Given the description of an element on the screen output the (x, y) to click on. 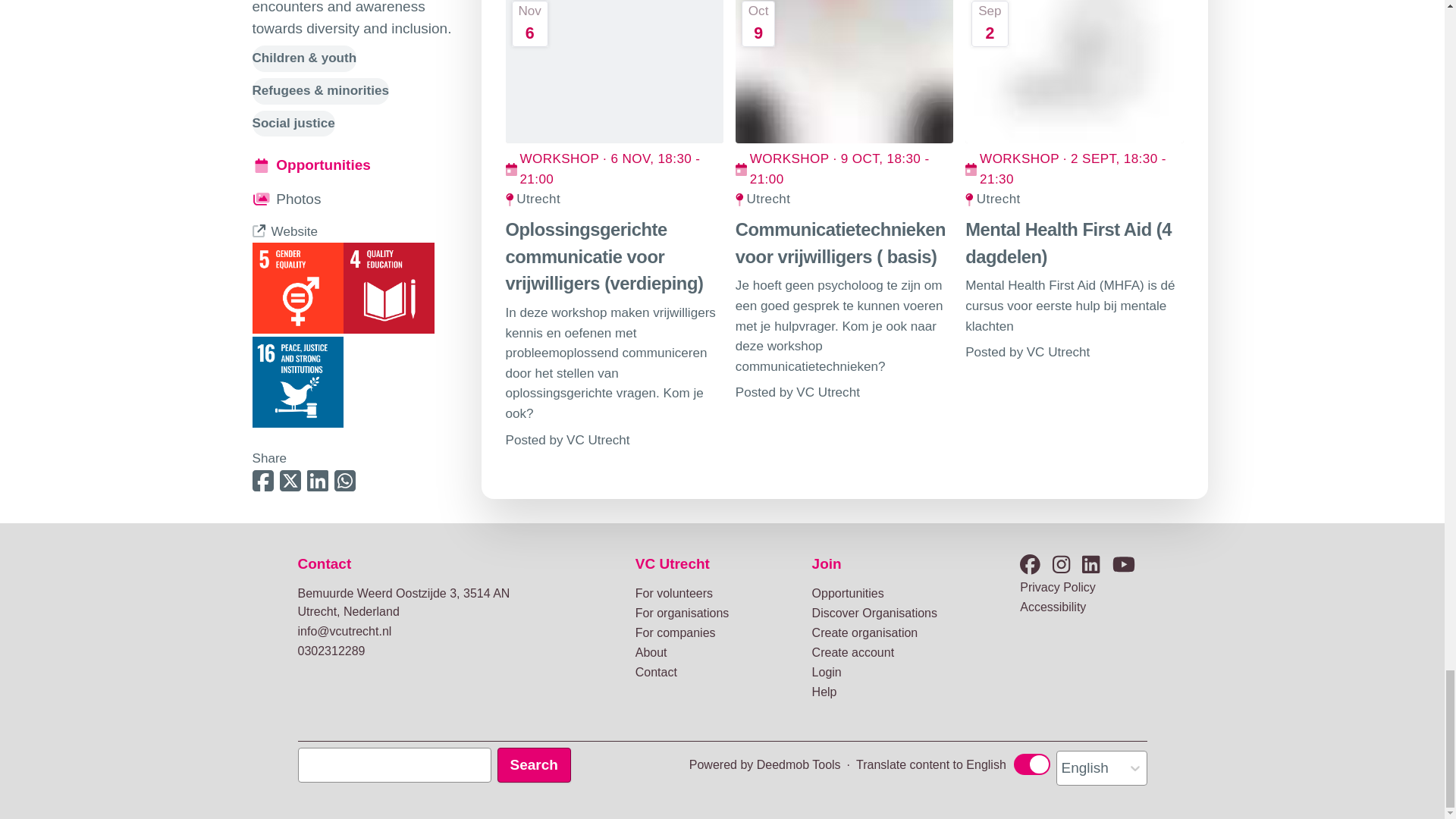
VC Utrecht Facebook (1030, 565)
VC Utrecht LinkedIn (1090, 565)
VC Utrecht Youtube (1123, 565)
VC Utrecht Instagram (1061, 565)
